Given the description of an element on the screen output the (x, y) to click on. 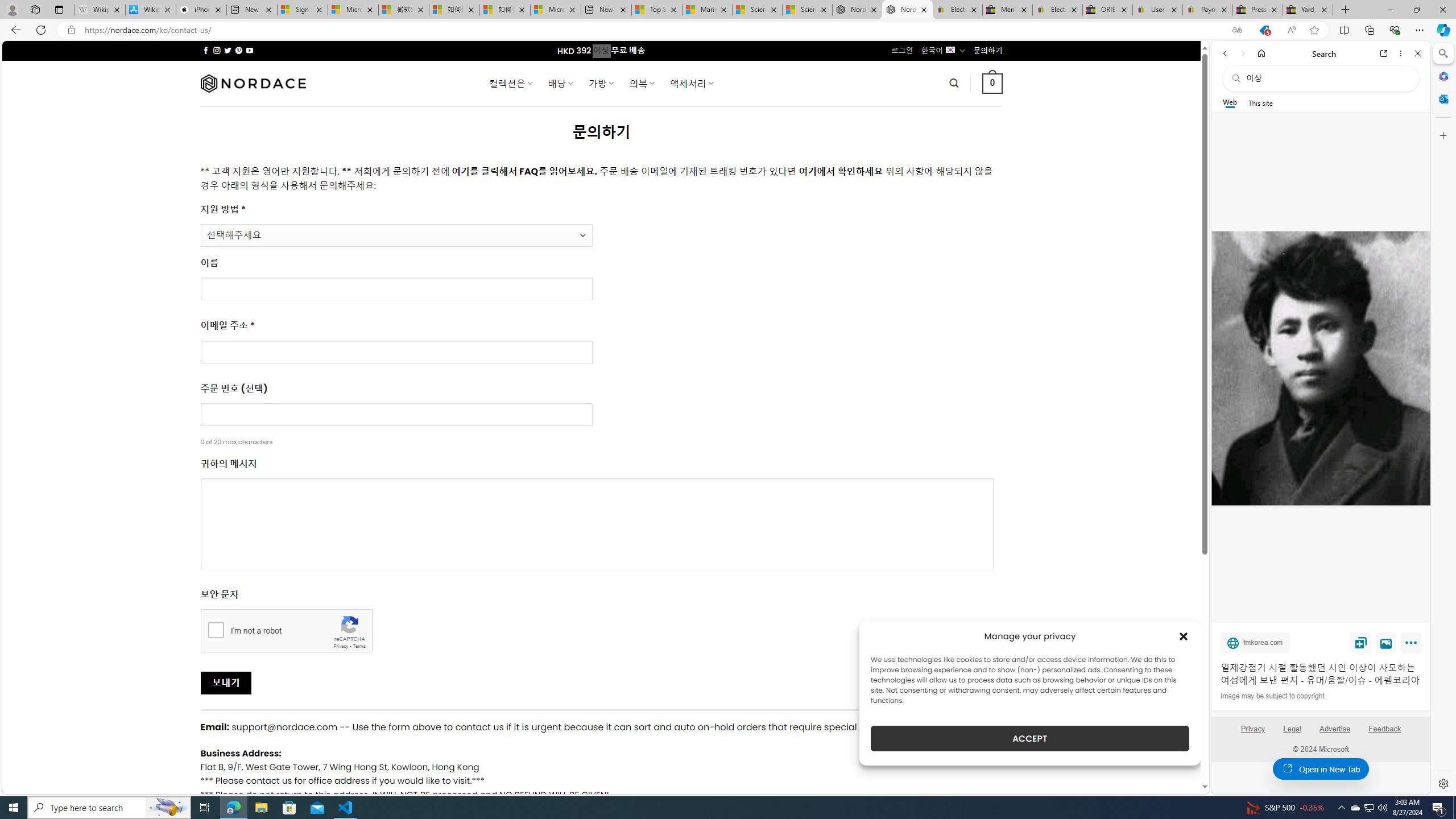
  0   (992, 83)
 0  (992, 83)
